Given the description of an element on the screen output the (x, y) to click on. 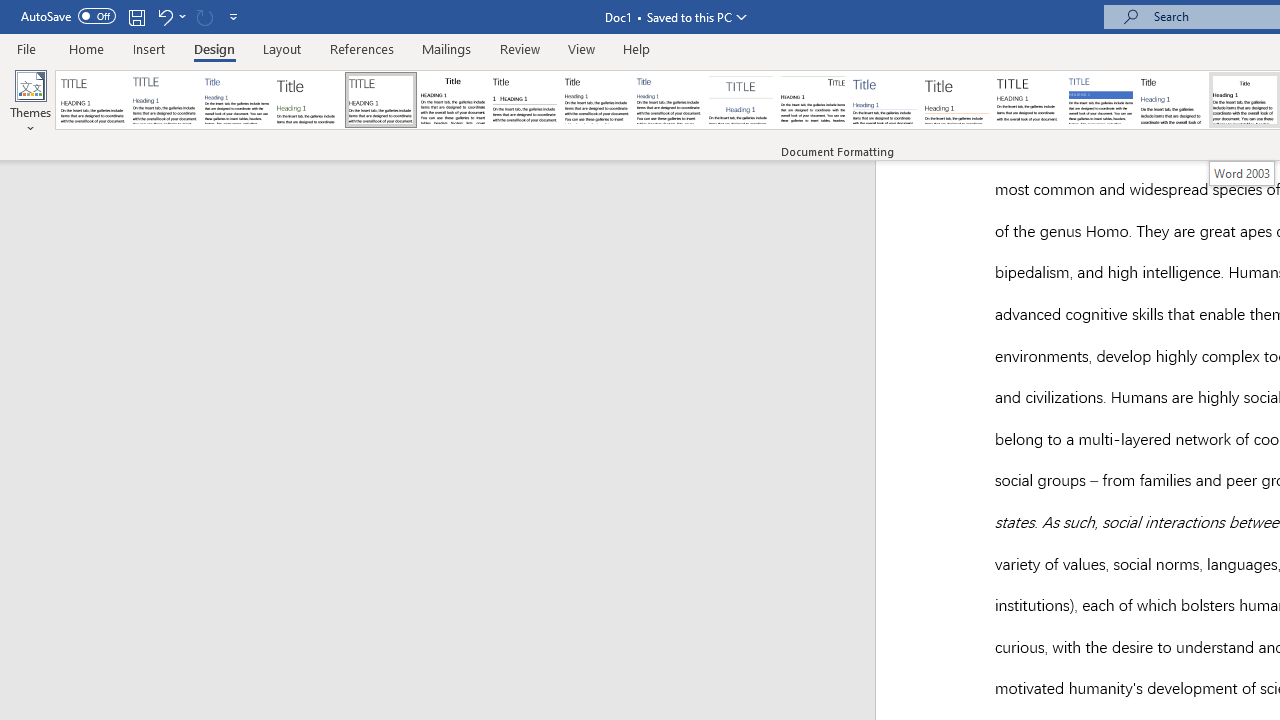
Black & White (Classic) (452, 100)
Basic (Simple) (236, 100)
Casual (669, 100)
Black & White (Numbered) (524, 100)
Document (93, 100)
Lines (Stylish) (957, 100)
Basic (Stylish) (308, 100)
Black & White (Word 2013) (596, 100)
